Given the description of an element on the screen output the (x, y) to click on. 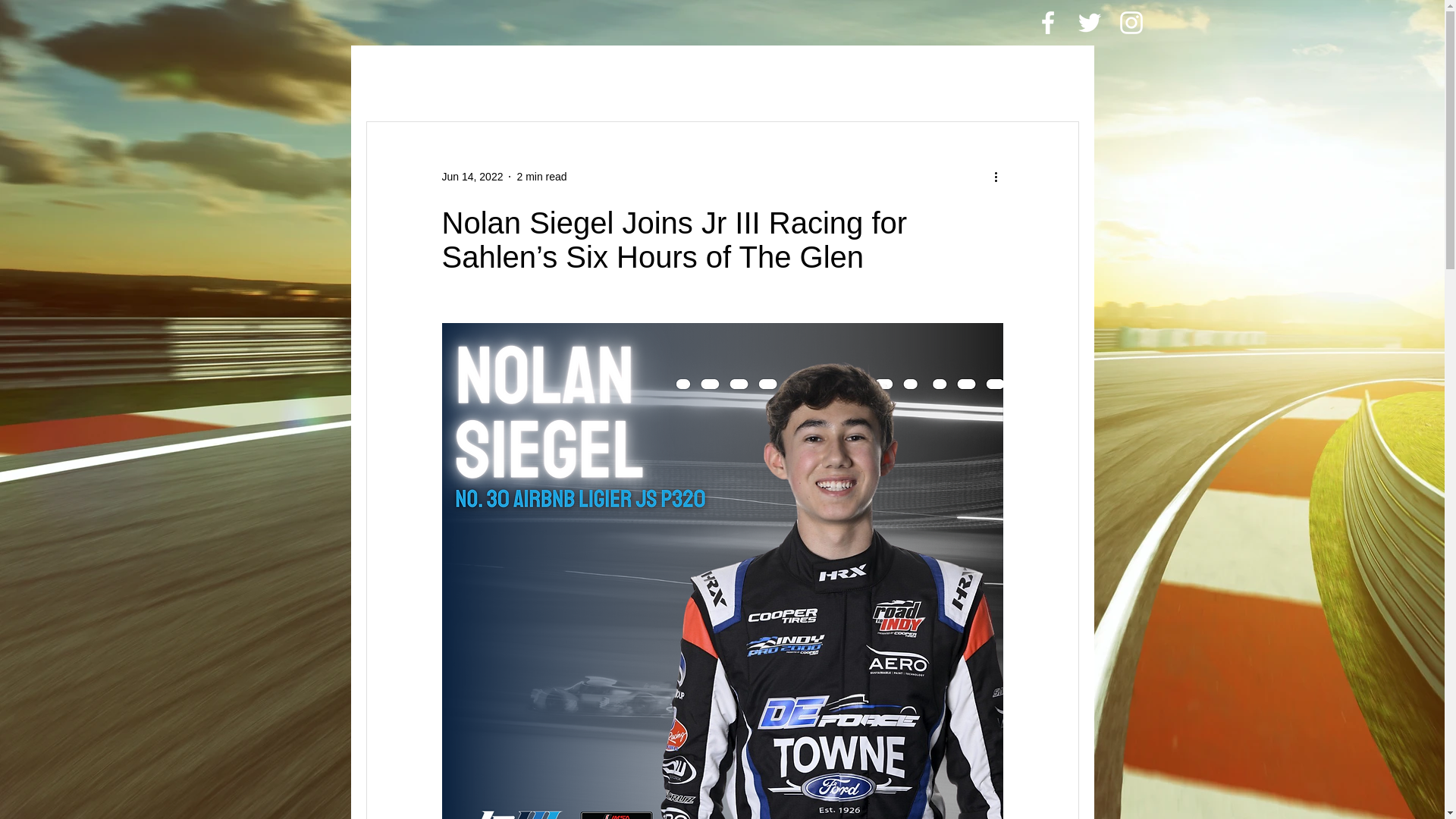
2 min read (541, 175)
All Posts (394, 75)
Jun 14, 2022 (471, 175)
